Given the description of an element on the screen output the (x, y) to click on. 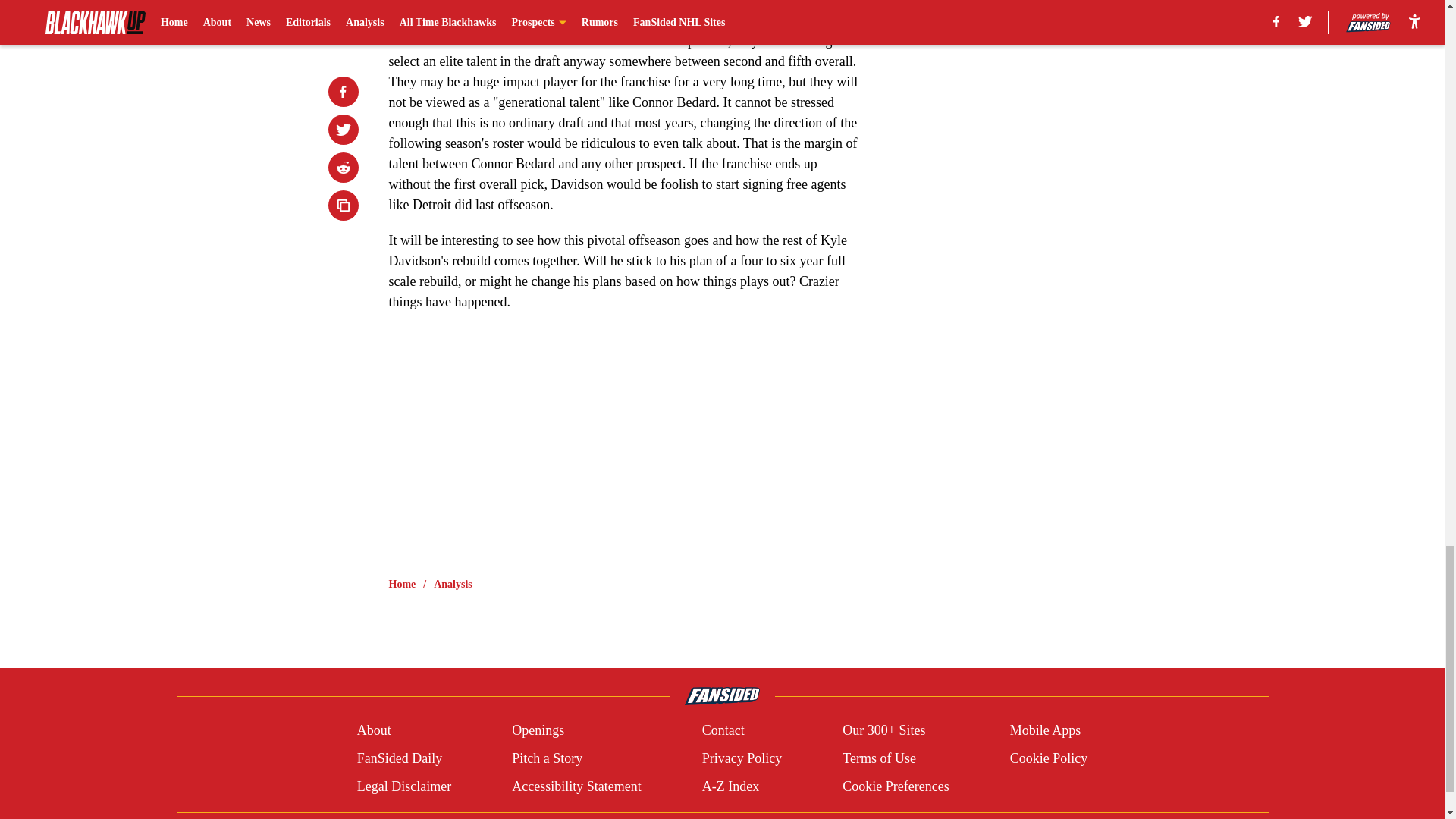
Contact (722, 730)
Cookie Preferences (896, 786)
About (373, 730)
Openings (538, 730)
Analysis (452, 584)
FanSided Daily (399, 758)
Privacy Policy (742, 758)
A-Z Index (729, 786)
Legal Disclaimer (403, 786)
Mobile Apps (1045, 730)
